Given the description of an element on the screen output the (x, y) to click on. 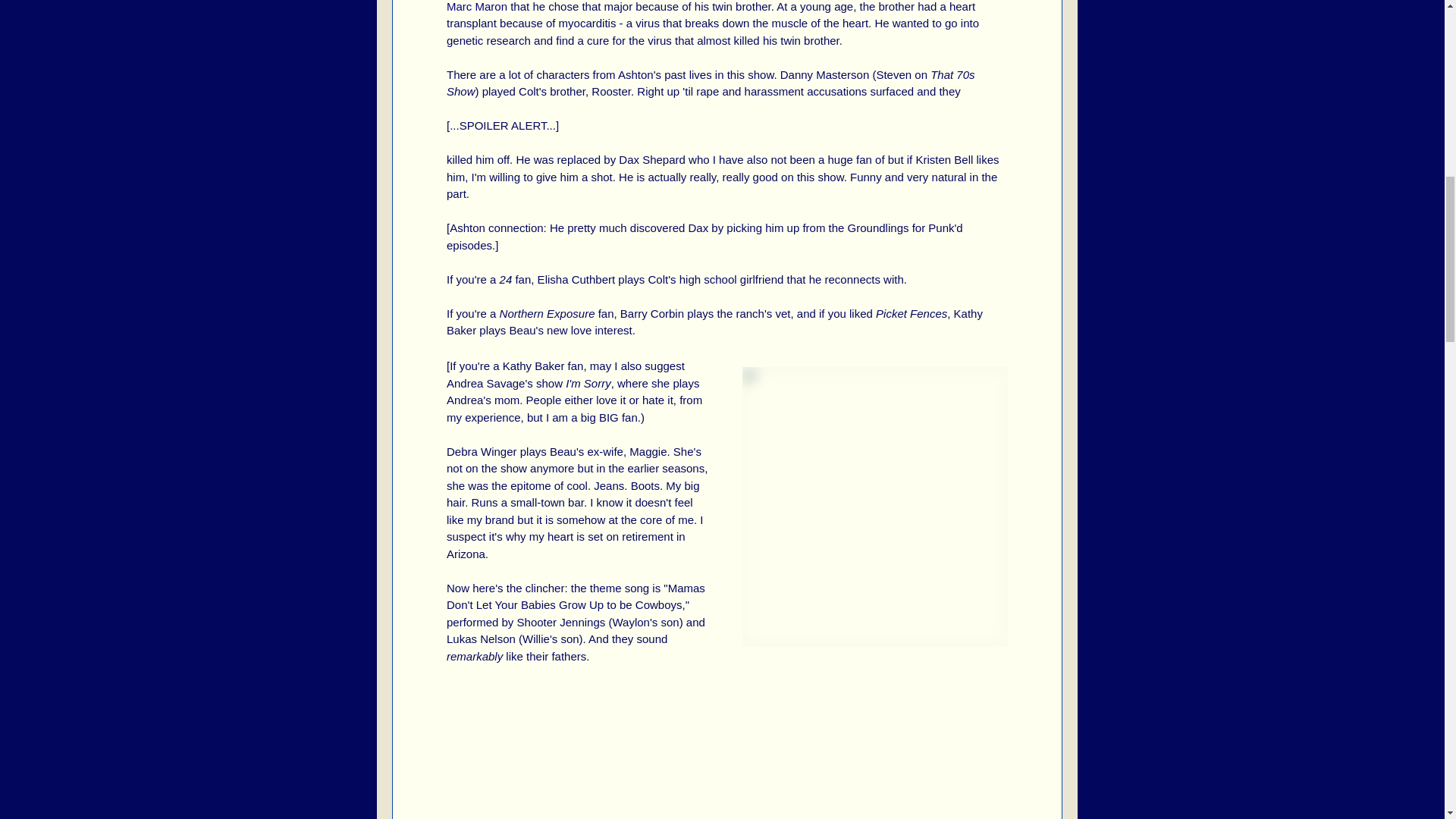
interview with Marc Maron (716, 6)
